Given the description of an element on the screen output the (x, y) to click on. 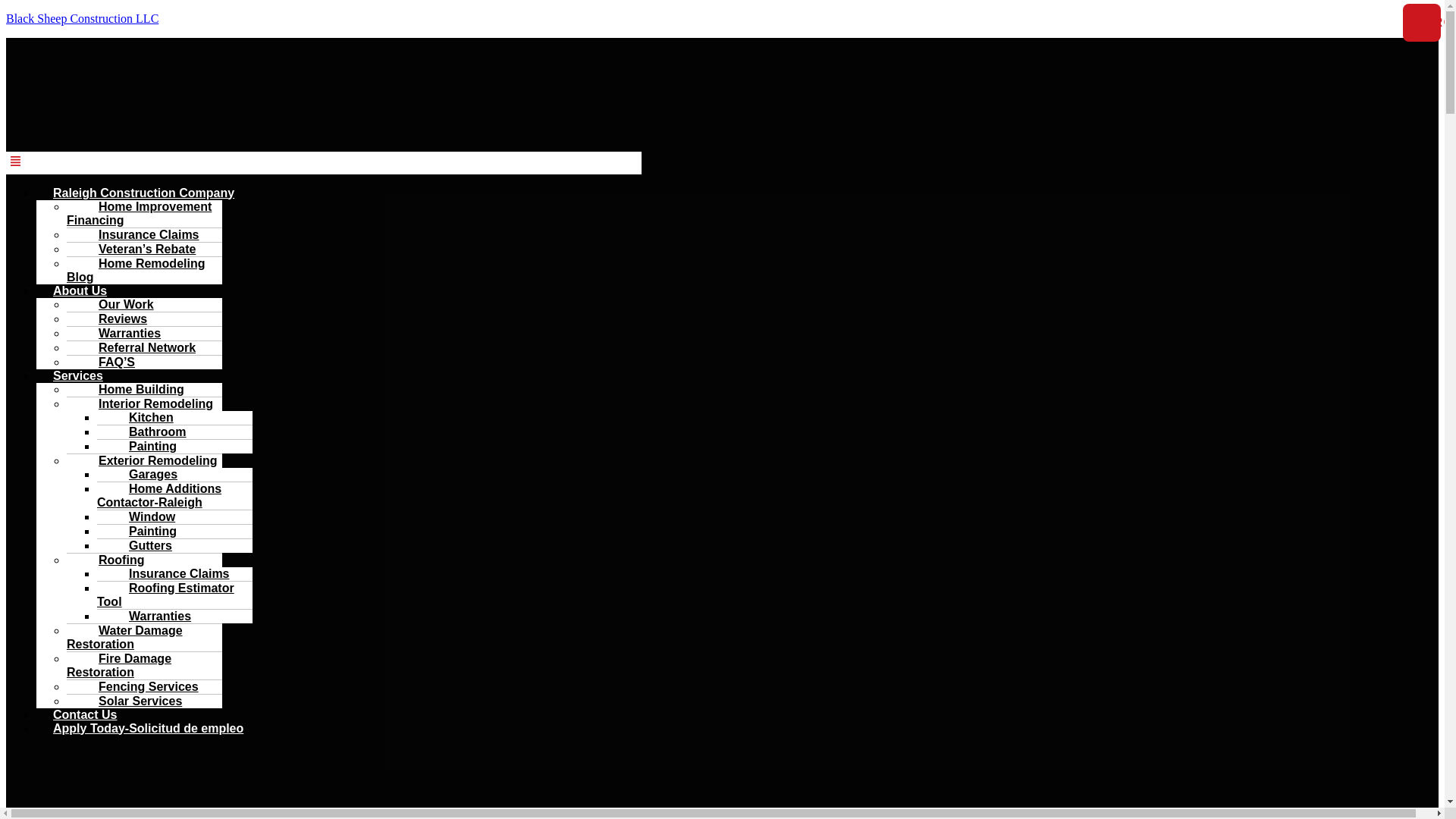
Garages (145, 474)
Roofing (113, 559)
Home Additions Contactor-Raleigh (159, 494)
Interior Remodeling (148, 402)
Water Damage Restoration (124, 636)
BSC-Logo-Linear-FullColor-adjusted-white (118, 785)
Window (144, 516)
Solar Services (132, 700)
Home Building (133, 389)
Black Sheep Construction LLC (81, 18)
